Given the description of an element on the screen output the (x, y) to click on. 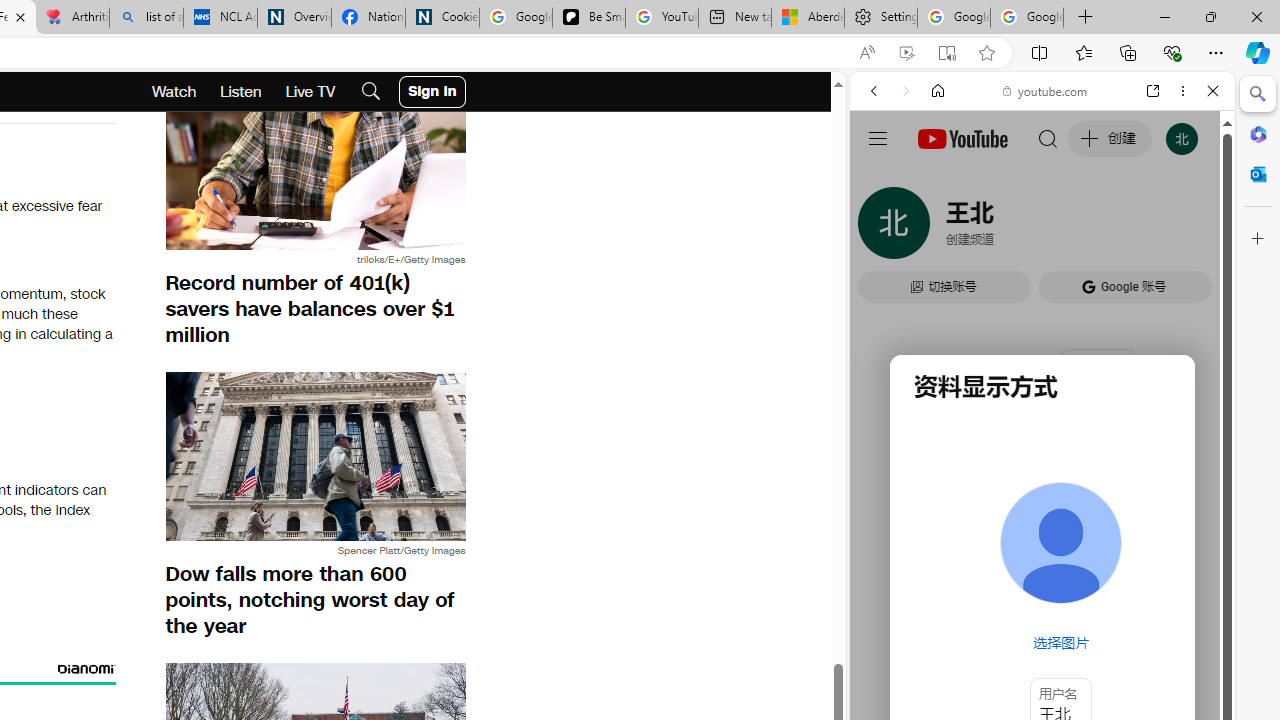
YouTube (1034, 296)
Search videos from youtube.com (1005, 657)
This site scope (936, 180)
Record number of 401(k) savers have balances over $1 million (315, 309)
Google (1042, 494)
Dianomi Logo (86, 667)
Dianomi Logo (86, 667)
Web scope (882, 180)
Favorites (1083, 52)
SEARCH TOOLS (1093, 228)
